Given the description of an element on the screen output the (x, y) to click on. 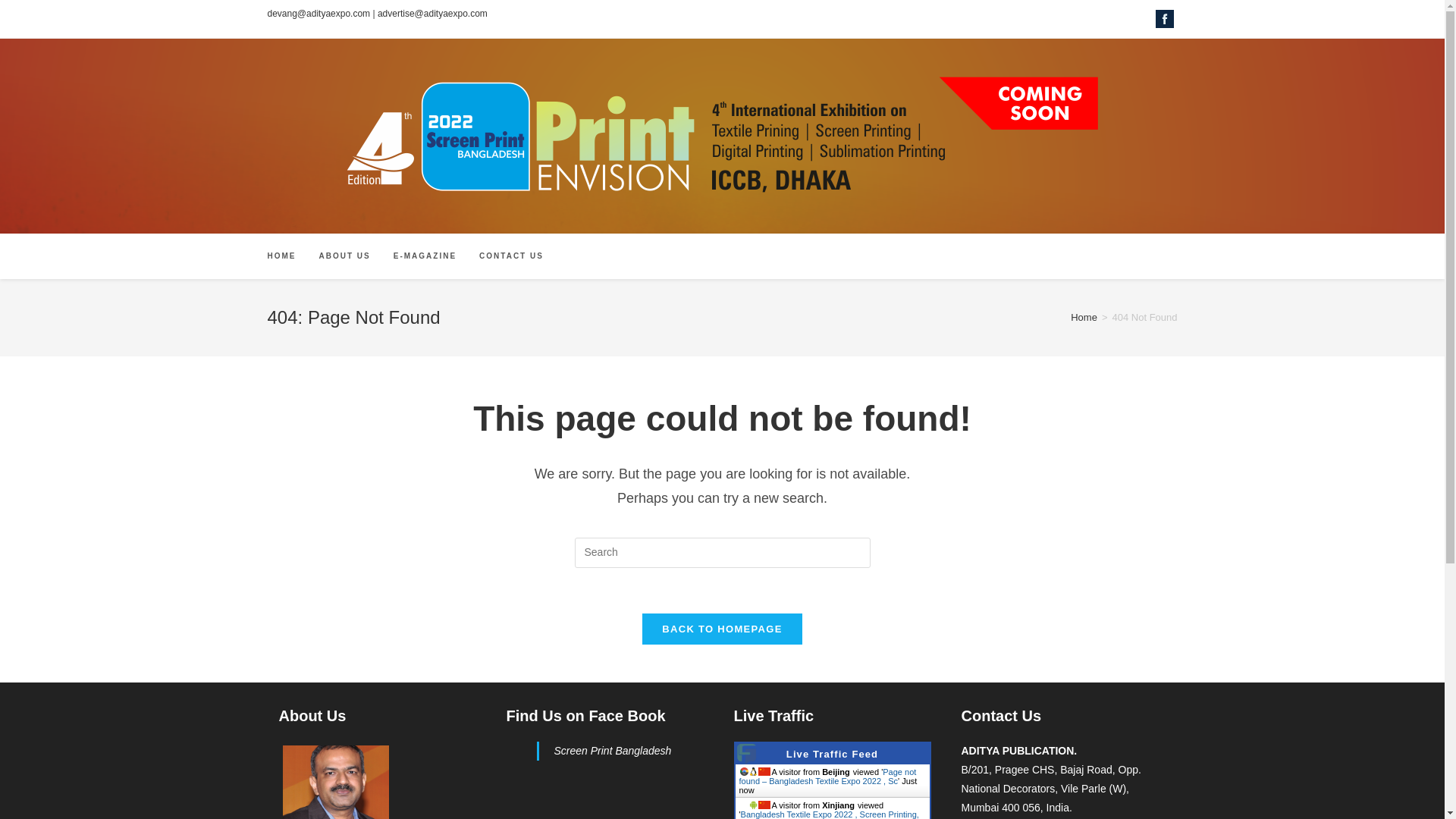
ABOUT US (344, 255)
China (764, 804)
Screen Print Bangladesh (612, 750)
Headless Chrome (743, 771)
Chrome Mobile (743, 804)
Home (1083, 317)
Live Traffic Feed (831, 754)
Bangladesh Textile Expo 2022 , Screen Printing, Te (828, 814)
Android (753, 804)
CONTACT US (510, 255)
